Given the description of an element on the screen output the (x, y) to click on. 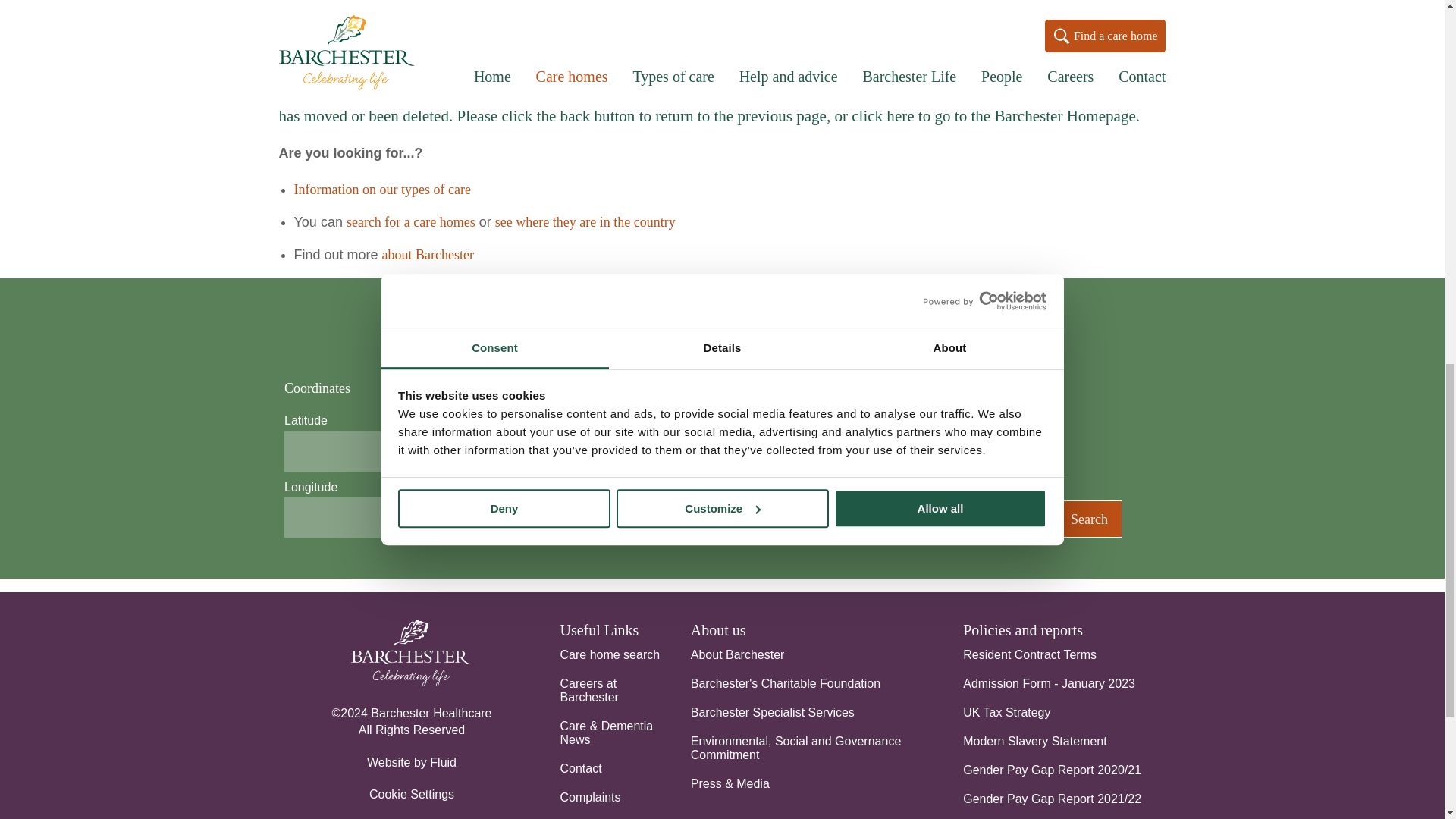
Search (1089, 518)
